Given the description of an element on the screen output the (x, y) to click on. 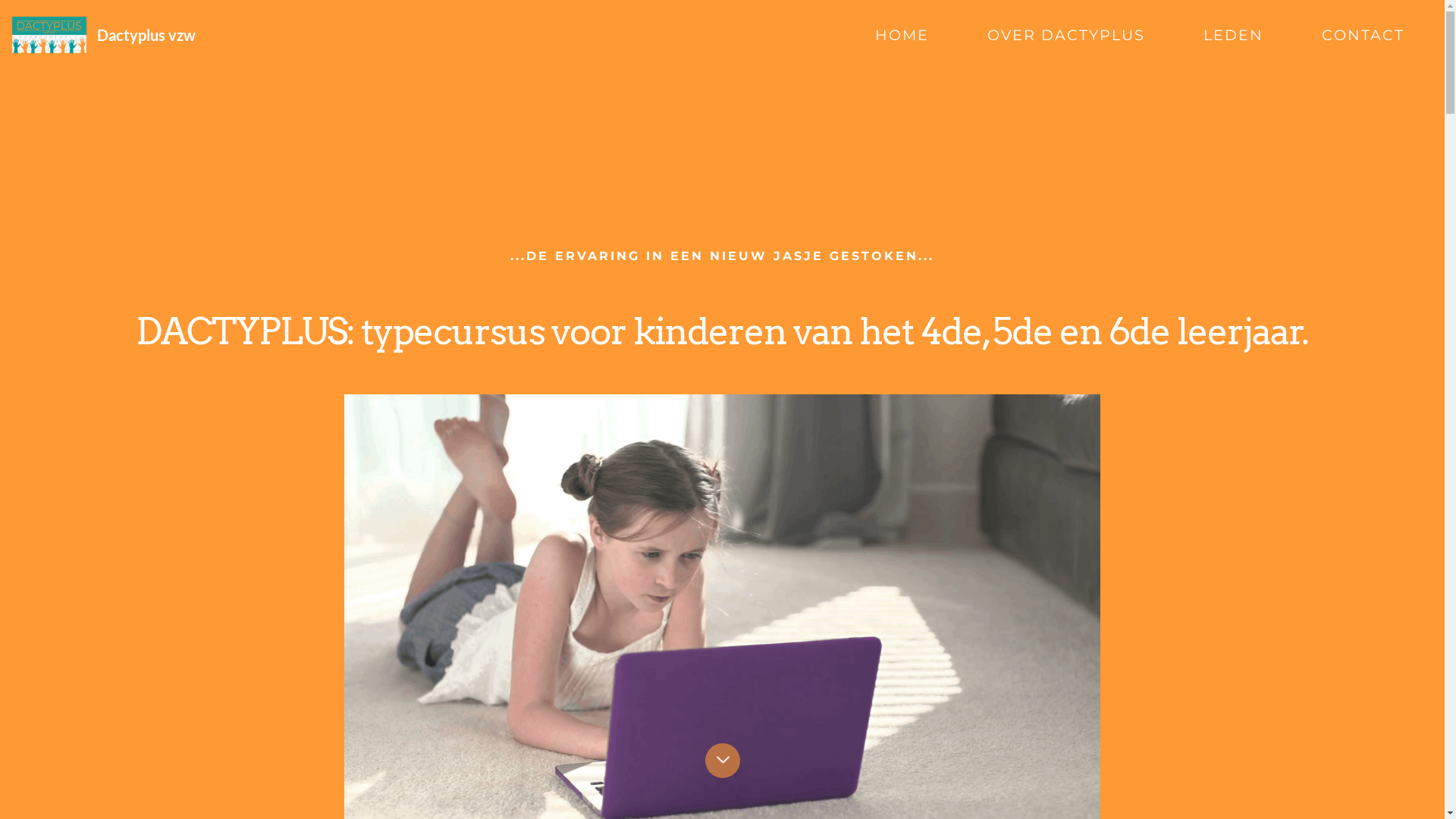
OVER DACTYPLUS Element type: text (1066, 35)
Dactyplus vzw Element type: text (146, 34)
CONTACT Element type: text (1362, 35)
LEDEN Element type: text (1233, 35)
HOME Element type: text (901, 35)
